Given the description of an element on the screen output the (x, y) to click on. 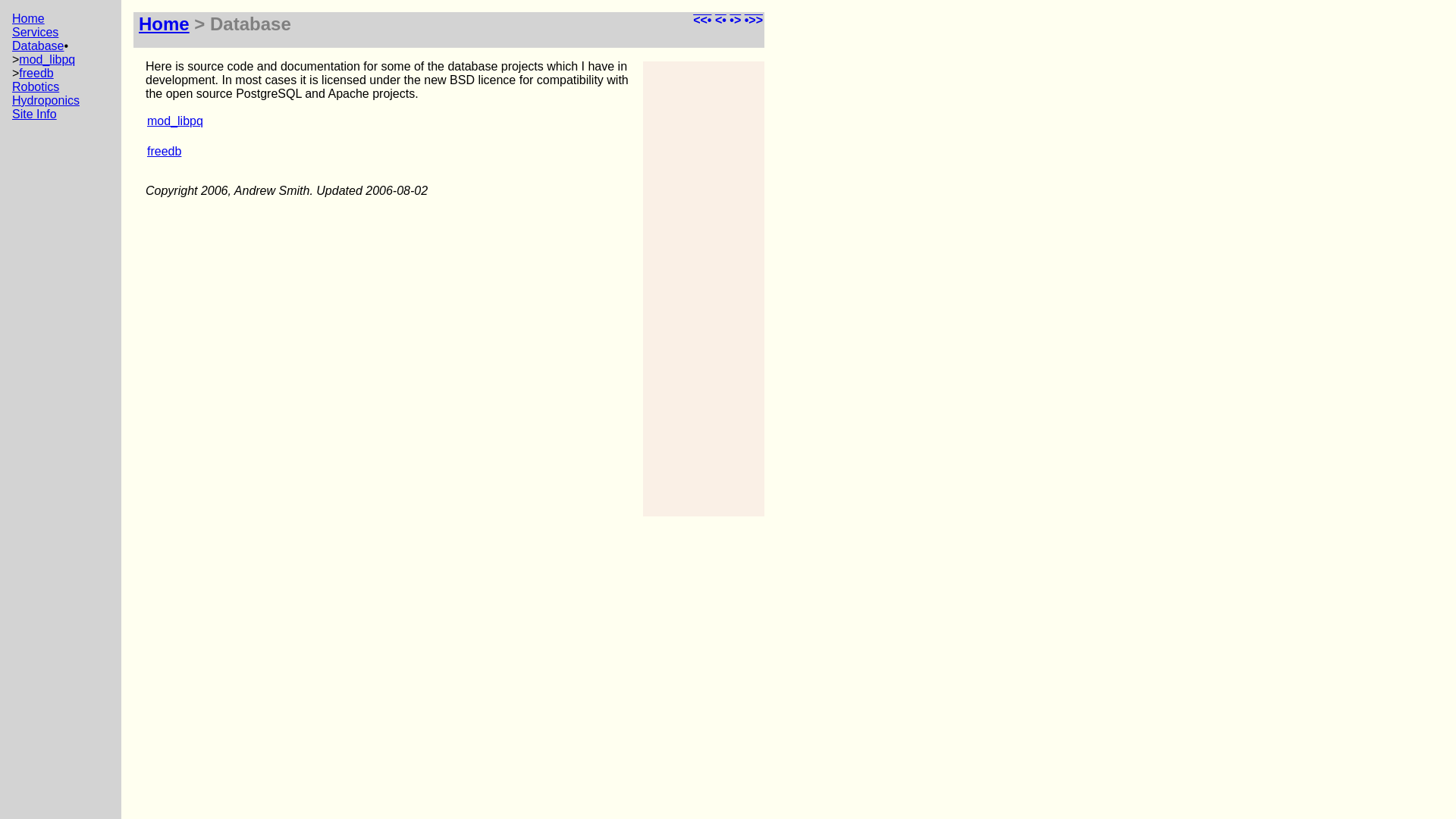
mod_libpq Element type: text (175, 120)
Database Element type: text (38, 45)
Site Info Element type: text (34, 113)
Services Element type: text (35, 31)
Home Element type: text (28, 18)
Home Element type: text (163, 23)
freedb Element type: text (164, 150)
mod_libpq Element type: text (46, 59)
Hydroponics Element type: text (45, 100)
freedb Element type: text (35, 72)
Robotics Element type: text (35, 86)
